Given the description of an element on the screen output the (x, y) to click on. 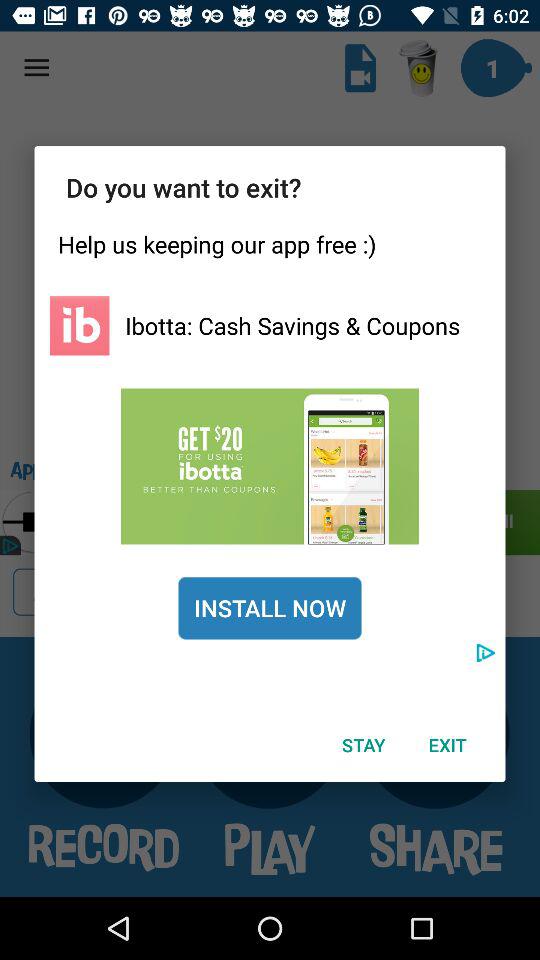
click item below the help us keeping icon (292, 325)
